Given the description of an element on the screen output the (x, y) to click on. 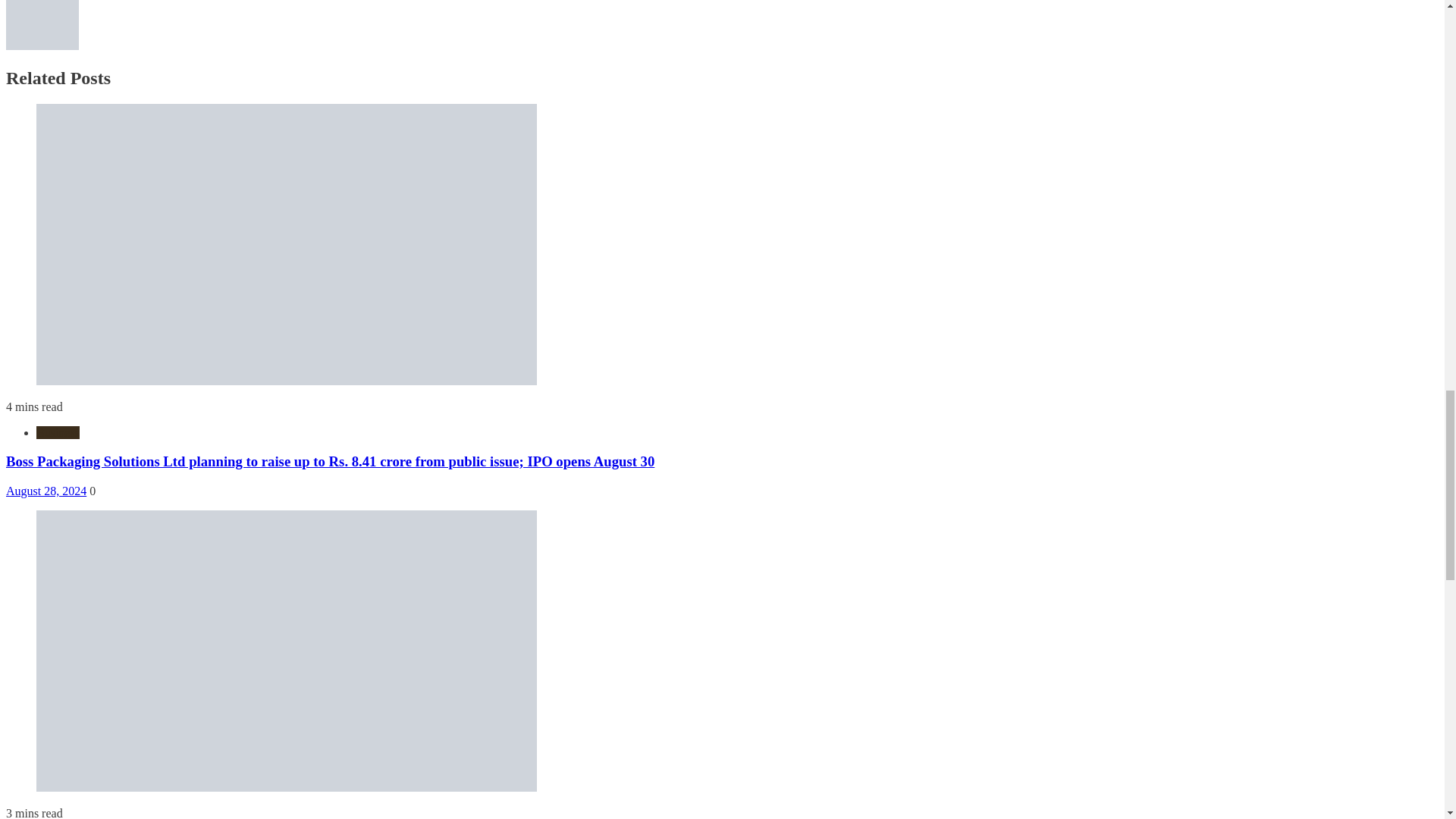
Business (58, 431)
August 28, 2024 (45, 490)
